Given the description of an element on the screen output the (x, y) to click on. 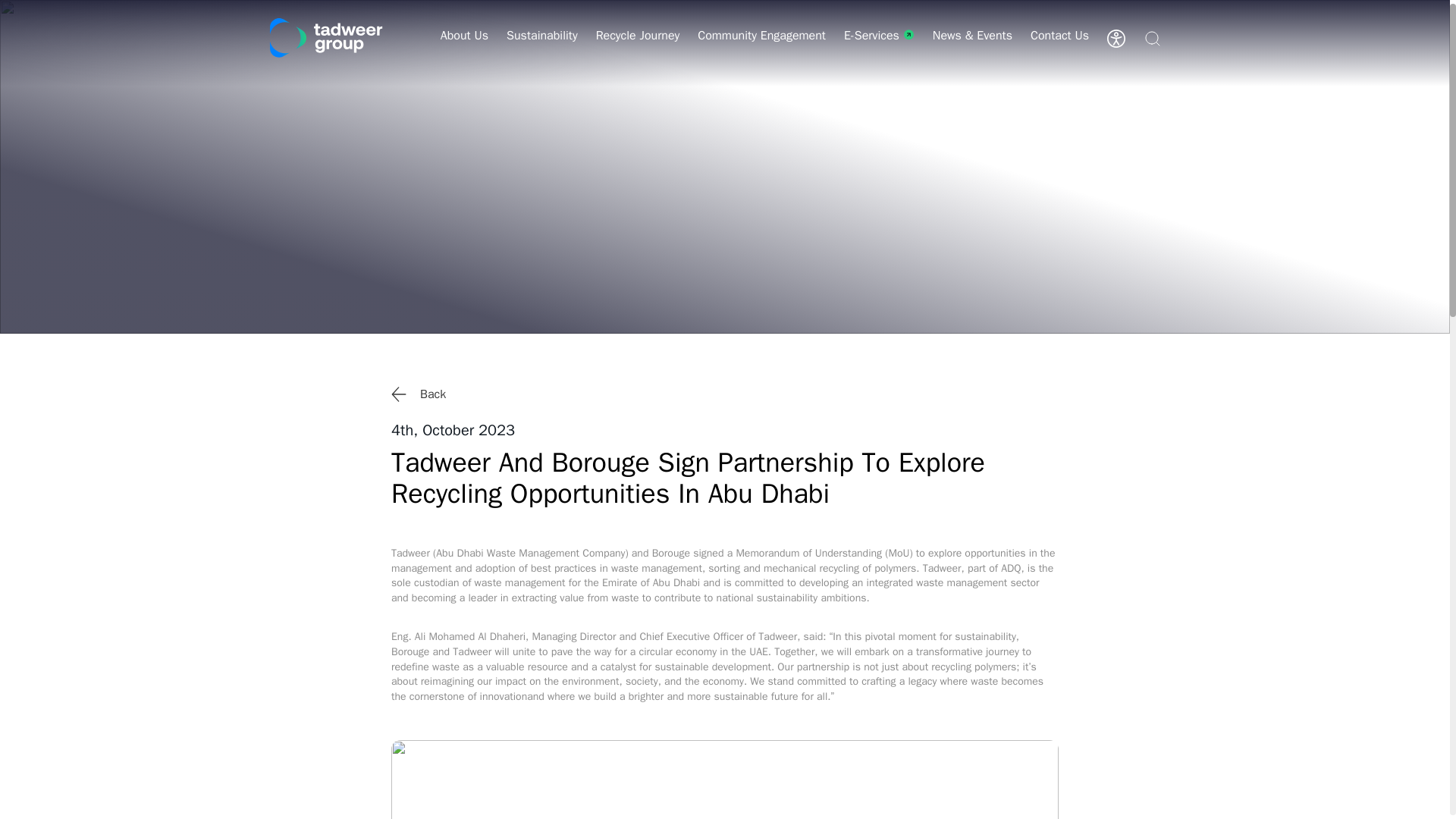
Recycle Journey (637, 48)
Contact Us (1059, 48)
Tadweer (325, 43)
E-Services (879, 48)
About Us (464, 48)
Community Engagement (761, 48)
Back (724, 394)
Sustainability (542, 48)
